Given the description of an element on the screen output the (x, y) to click on. 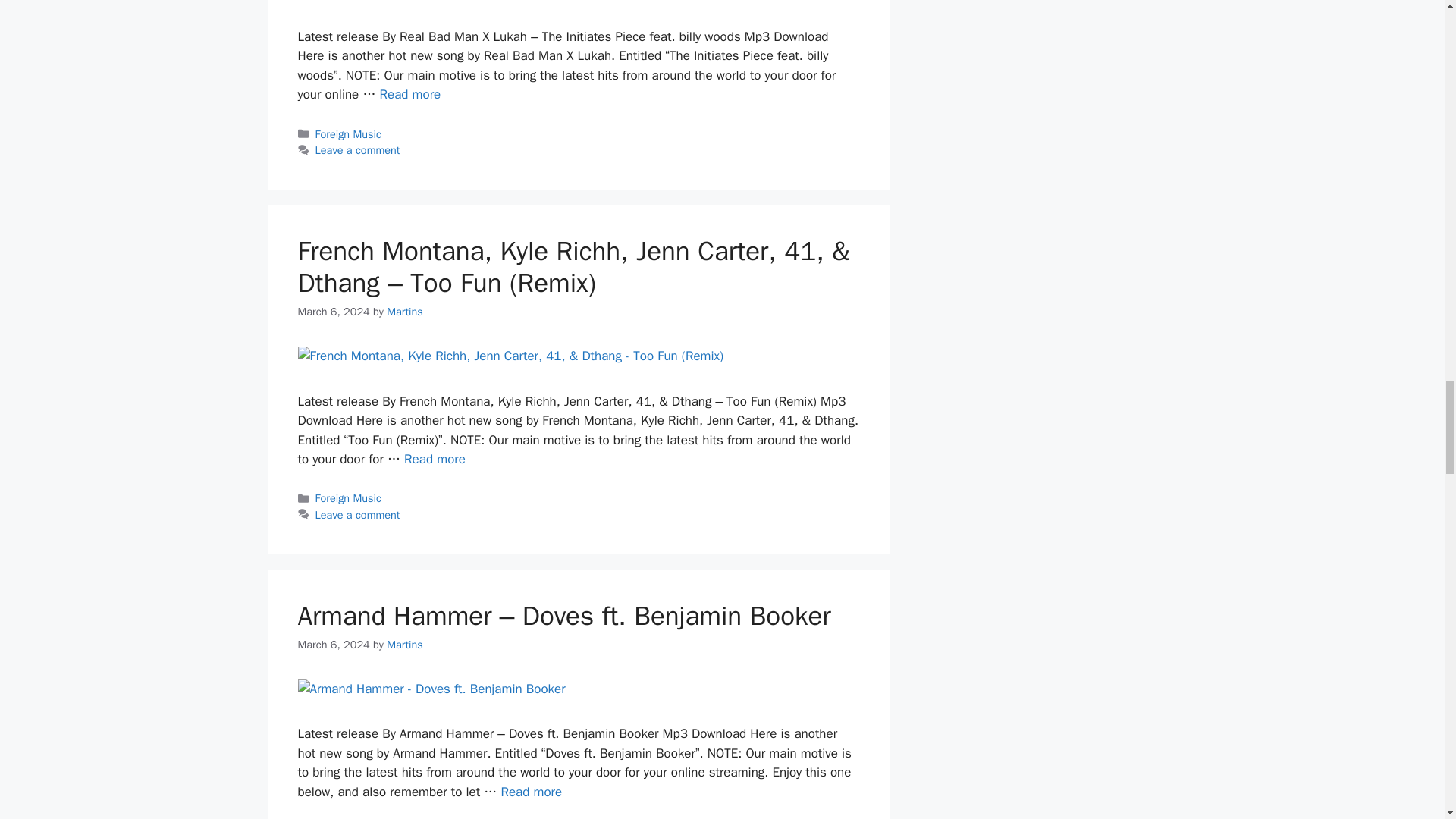
Foreign Music (348, 133)
View all posts by Martins (405, 311)
Leave a comment (357, 150)
View all posts by Martins (405, 644)
Read more (409, 94)
